Given the description of an element on the screen output the (x, y) to click on. 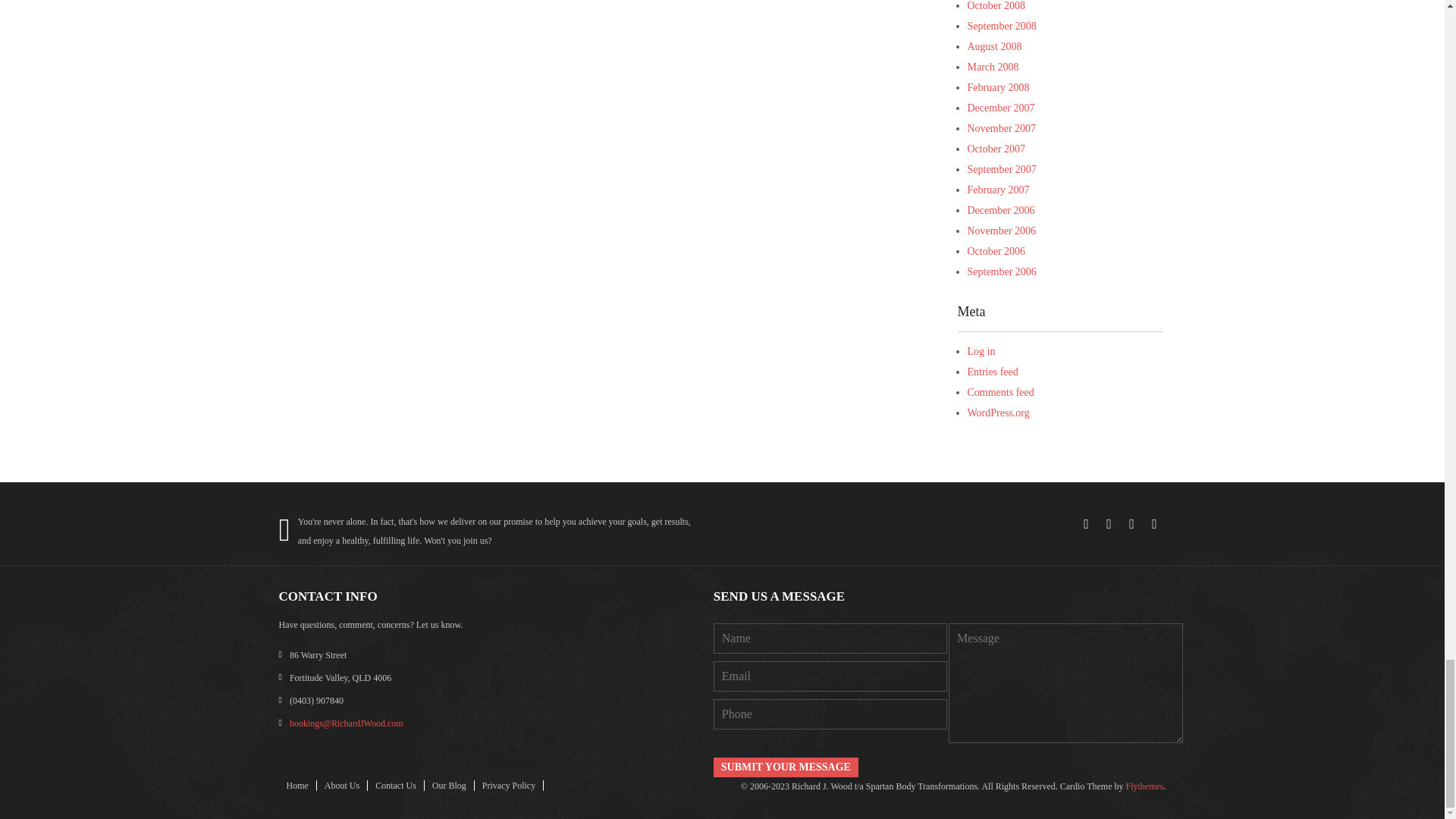
linkedin (1131, 523)
facebook (1086, 523)
twitter (1109, 523)
Submit Your Message (786, 767)
youtube (1154, 523)
